Given the description of an element on the screen output the (x, y) to click on. 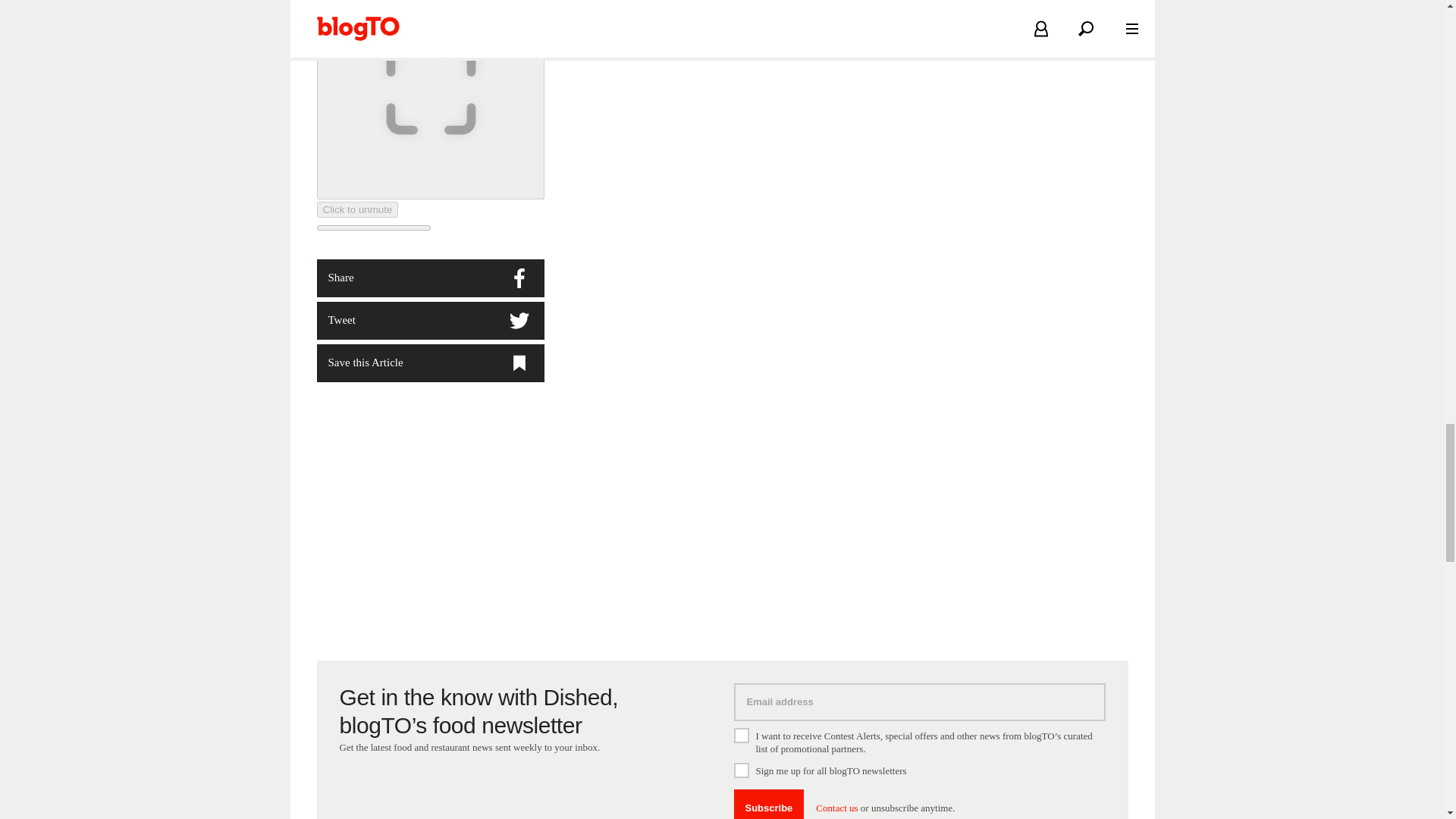
Subscribe (769, 804)
